Given the description of an element on the screen output the (x, y) to click on. 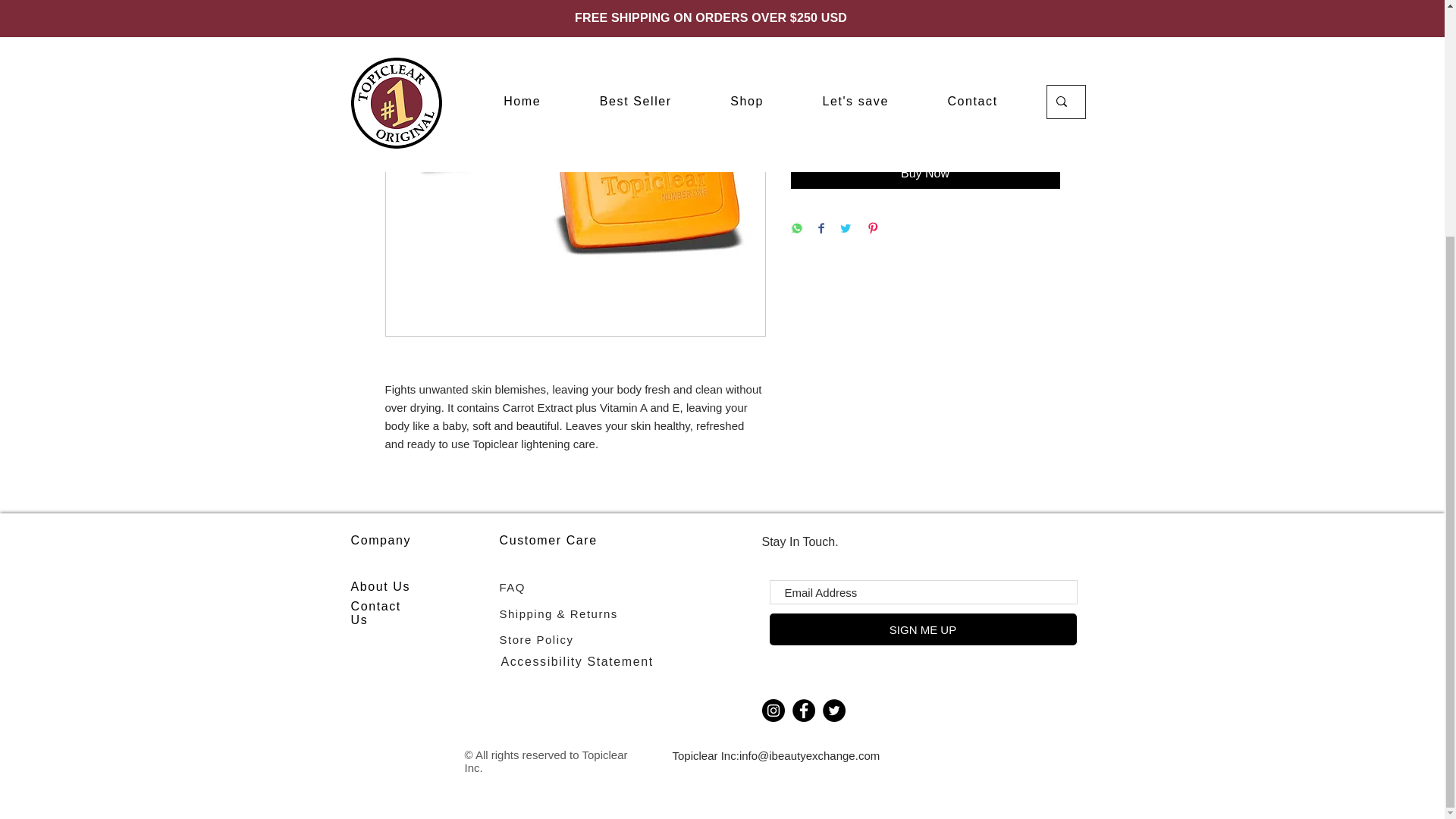
Buy Now (924, 173)
Store Policy (536, 639)
SIGN ME UP (921, 629)
1 (818, 79)
Accessibility Statement (576, 661)
FAQ (512, 586)
Contact Us (375, 612)
Add to Cart (924, 133)
About Us (380, 585)
